Given the description of an element on the screen output the (x, y) to click on. 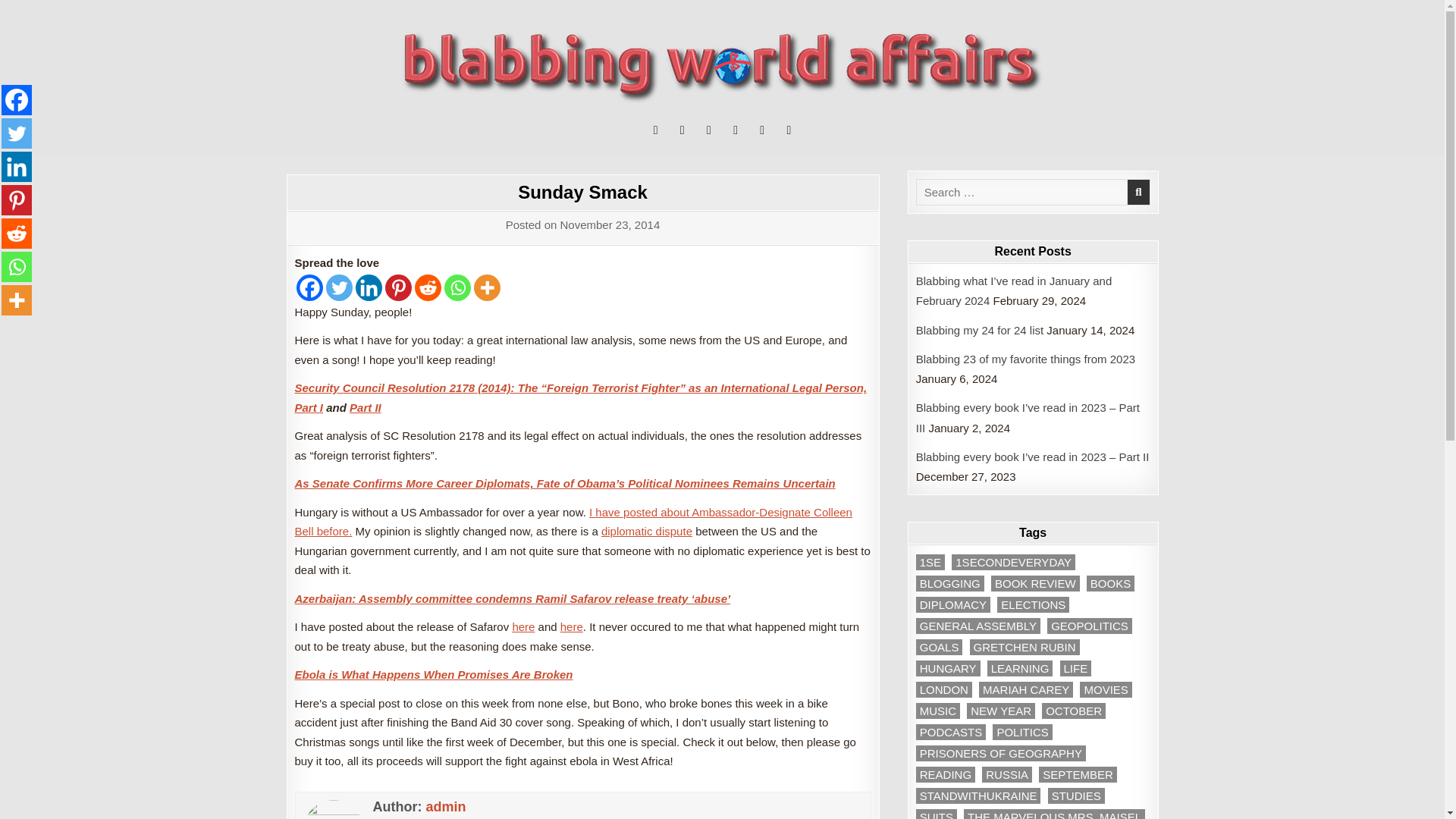
here (523, 626)
Linkedin (368, 287)
blabbing world affairs (381, 121)
admin (445, 806)
Twitter (339, 287)
Pinterest (398, 287)
here (571, 626)
Facebook (308, 287)
Part II (365, 407)
Whatsapp (457, 287)
Reddit (427, 287)
diplomatic dispute (647, 530)
Sunday Smack (582, 191)
Ebola is What Happens When Promises Are Broken (433, 674)
